Given the description of an element on the screen output the (x, y) to click on. 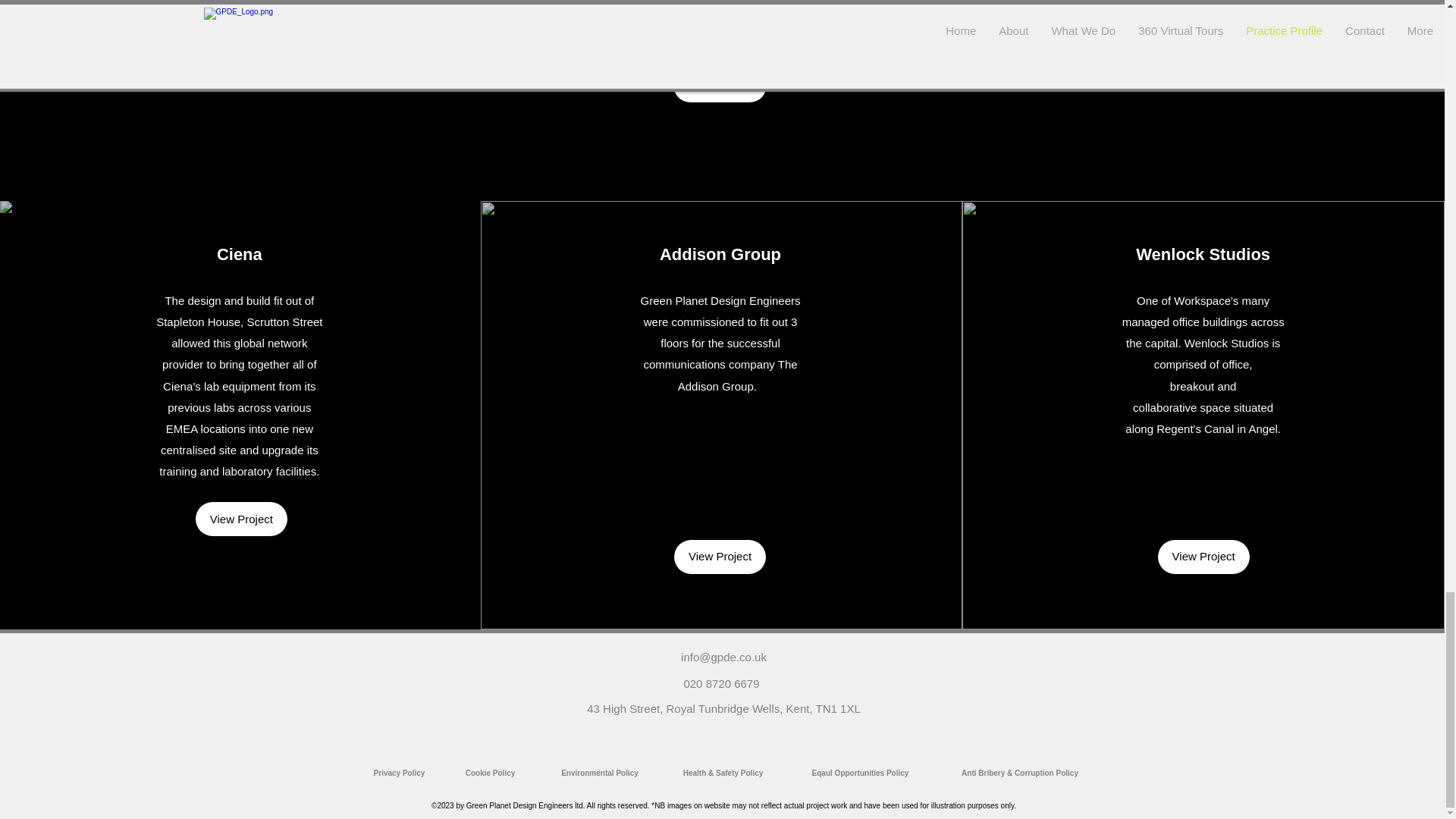
View Project (1203, 556)
View Project (719, 84)
View Project (719, 556)
View Project (238, 67)
View Project (1202, 67)
View Project (240, 519)
